Given the description of an element on the screen output the (x, y) to click on. 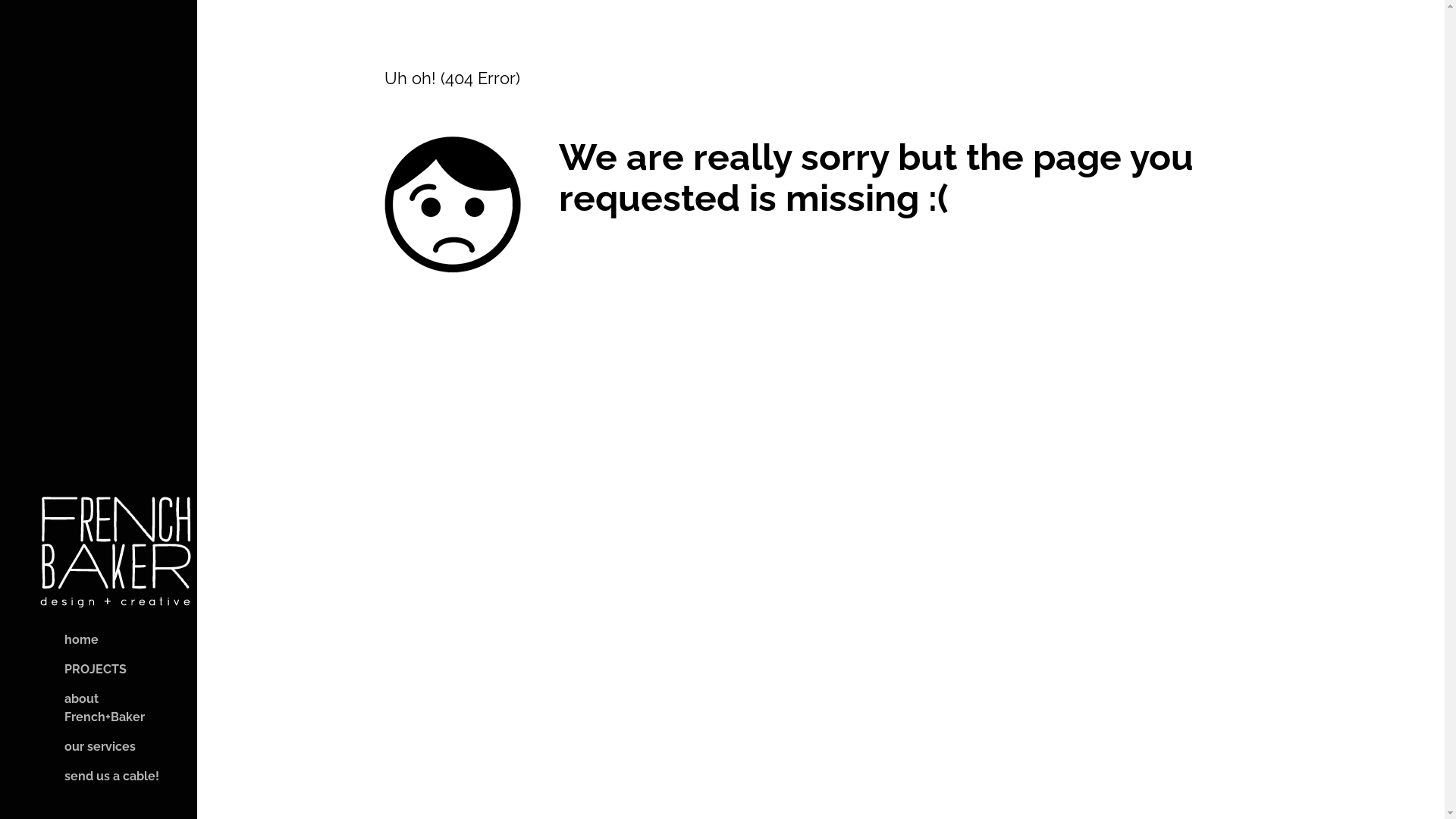
home Element type: text (67, 639)
PROJECTS Element type: text (81, 669)
send us a cable! Element type: text (98, 776)
our services Element type: text (86, 746)
Advertisement Element type: hover (98, 264)
about French+Baker Element type: text (98, 708)
